Given the description of an element on the screen output the (x, y) to click on. 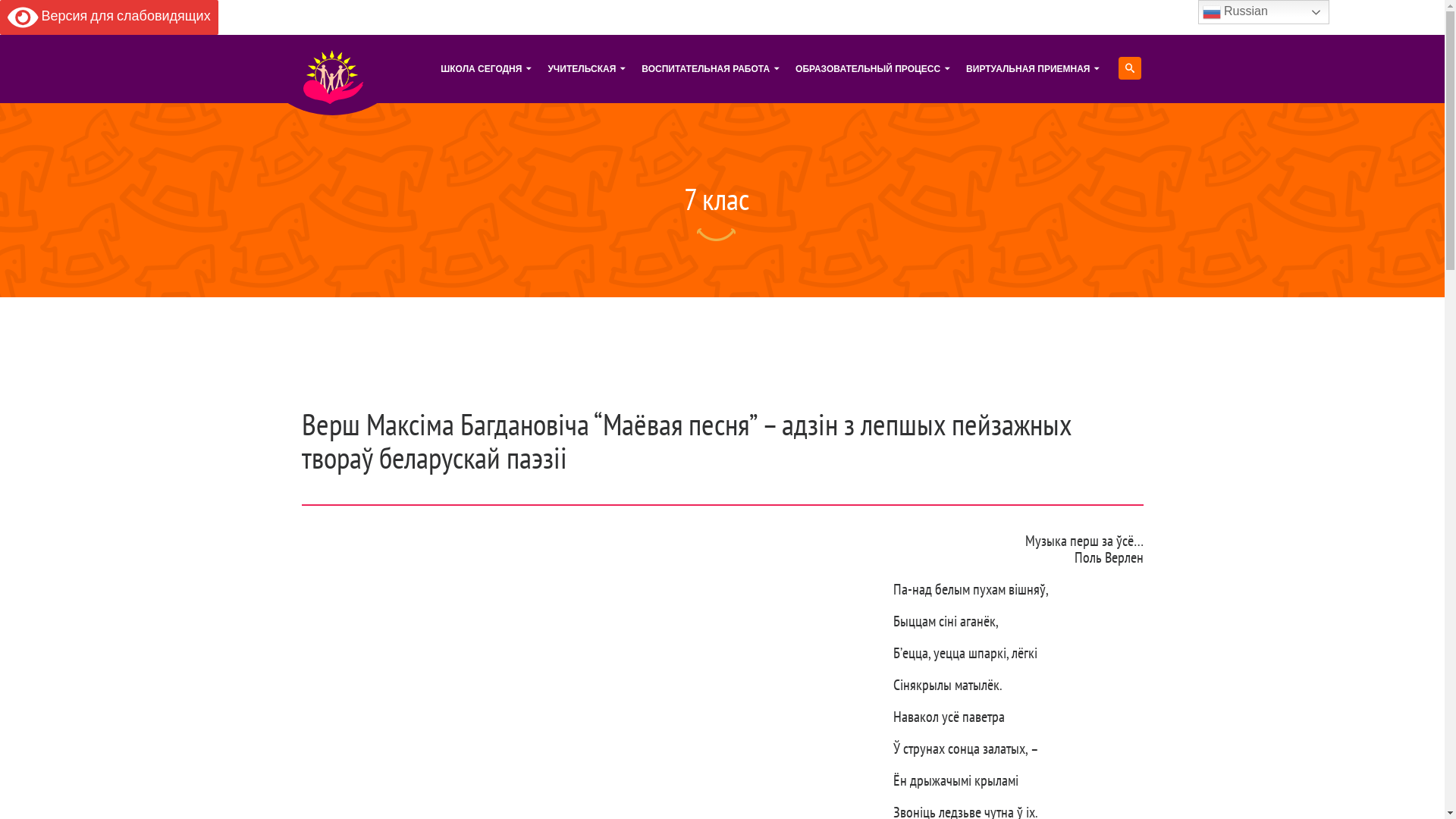
Russian Element type: text (1263, 12)
Search Element type: text (11, 9)
